Given the description of an element on the screen output the (x, y) to click on. 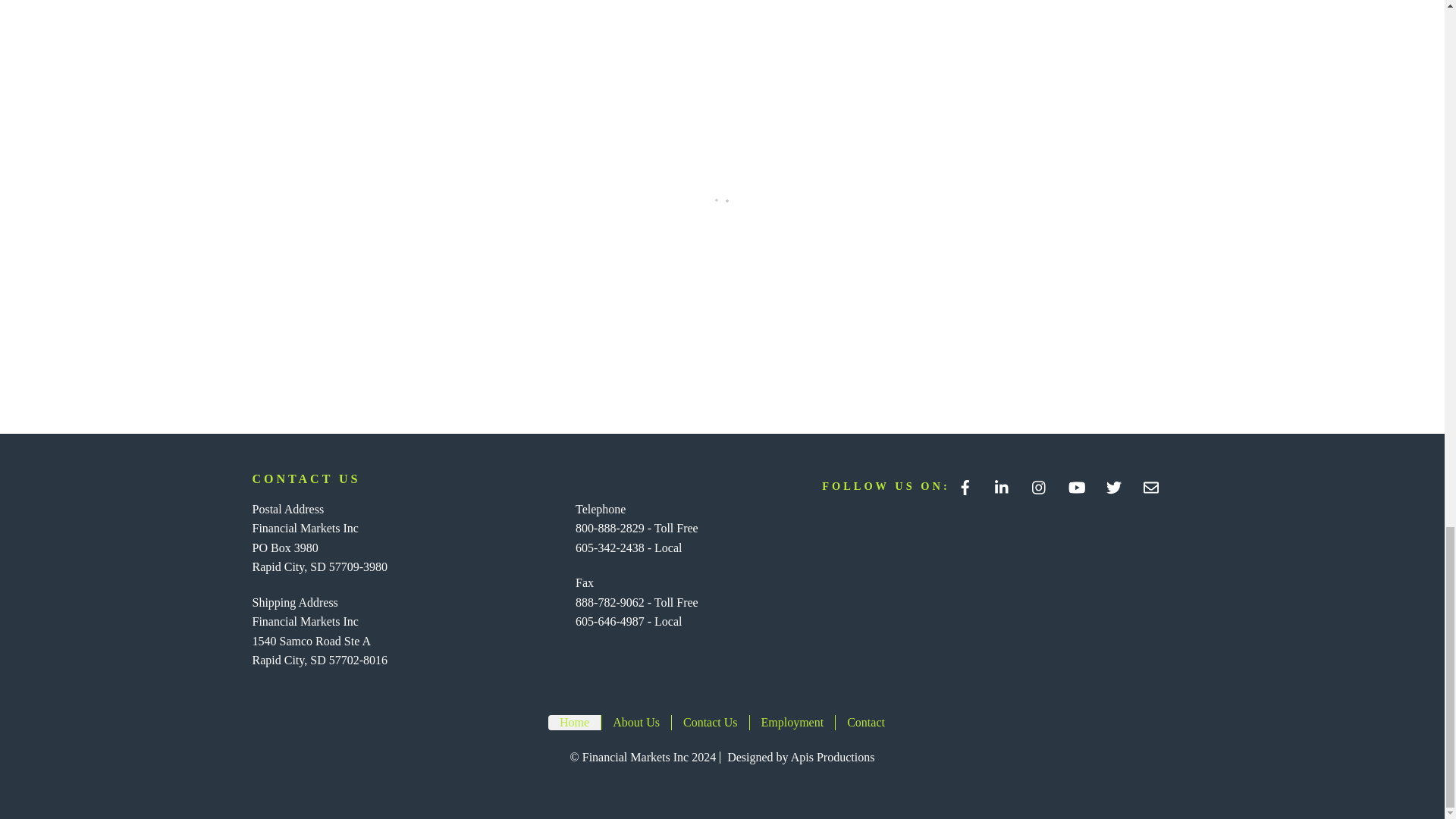
Home About Us Contact Us Employment Contact (722, 722)
